Given the description of an element on the screen output the (x, y) to click on. 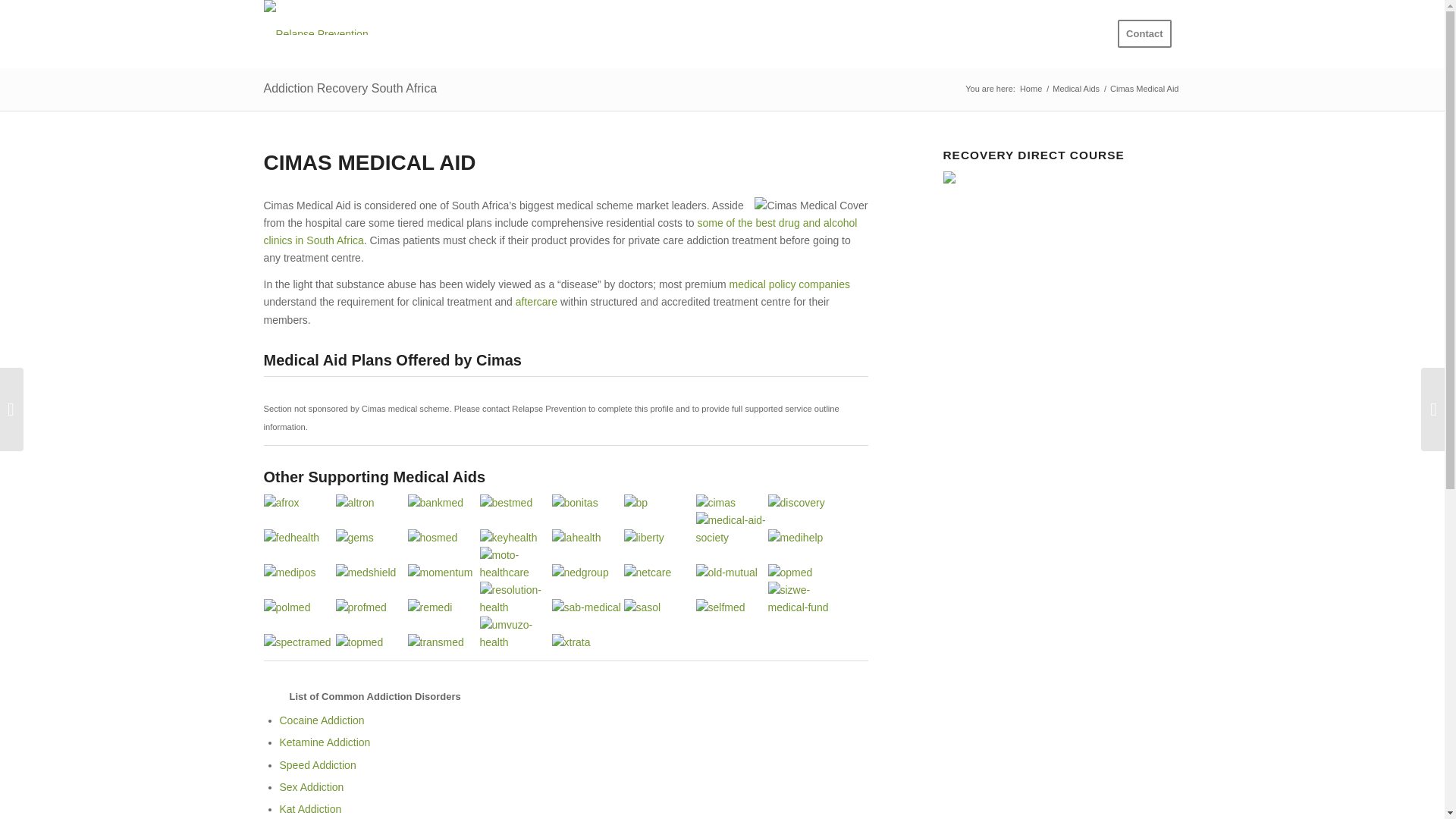
gems (370, 538)
altron (370, 502)
afrox (299, 502)
Relapse Prevention (1030, 89)
discovery (803, 502)
Home (1030, 89)
lahealth (587, 538)
keyhealth (515, 538)
Medical Aids (1075, 89)
fedhealth (299, 538)
